Given the description of an element on the screen output the (x, y) to click on. 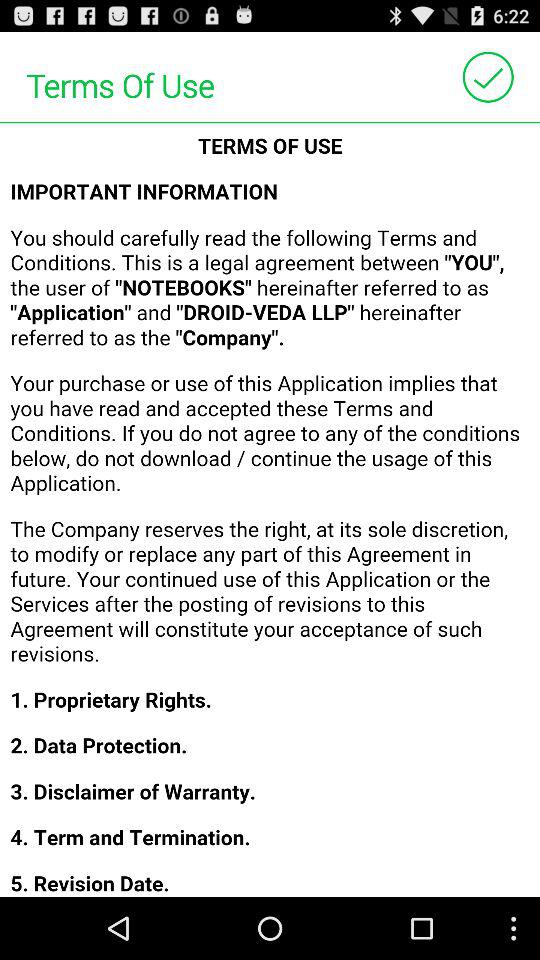
go to tick option (487, 76)
